Given the description of an element on the screen output the (x, y) to click on. 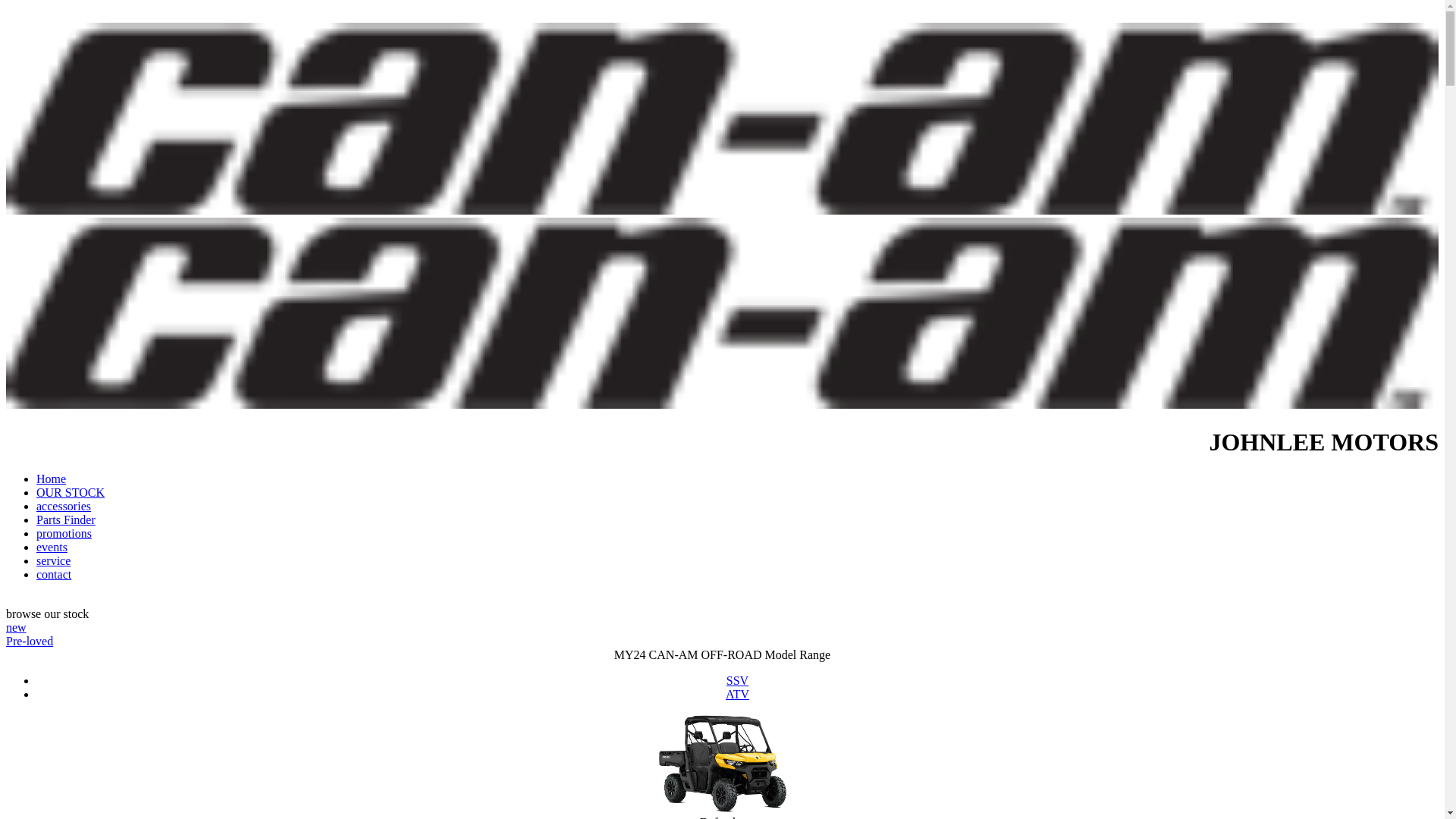
OUR STOCK Element type: text (70, 492)
SSV Element type: text (737, 680)
accessories Element type: text (63, 505)
contact Element type: text (53, 573)
ATV Element type: text (737, 693)
Pre-loved Element type: text (29, 640)
new Element type: text (16, 627)
Home Element type: text (50, 478)
promotions Element type: text (63, 533)
service Element type: text (53, 560)
events Element type: text (51, 546)
Parts Finder Element type: text (65, 519)
